Given the description of an element on the screen output the (x, y) to click on. 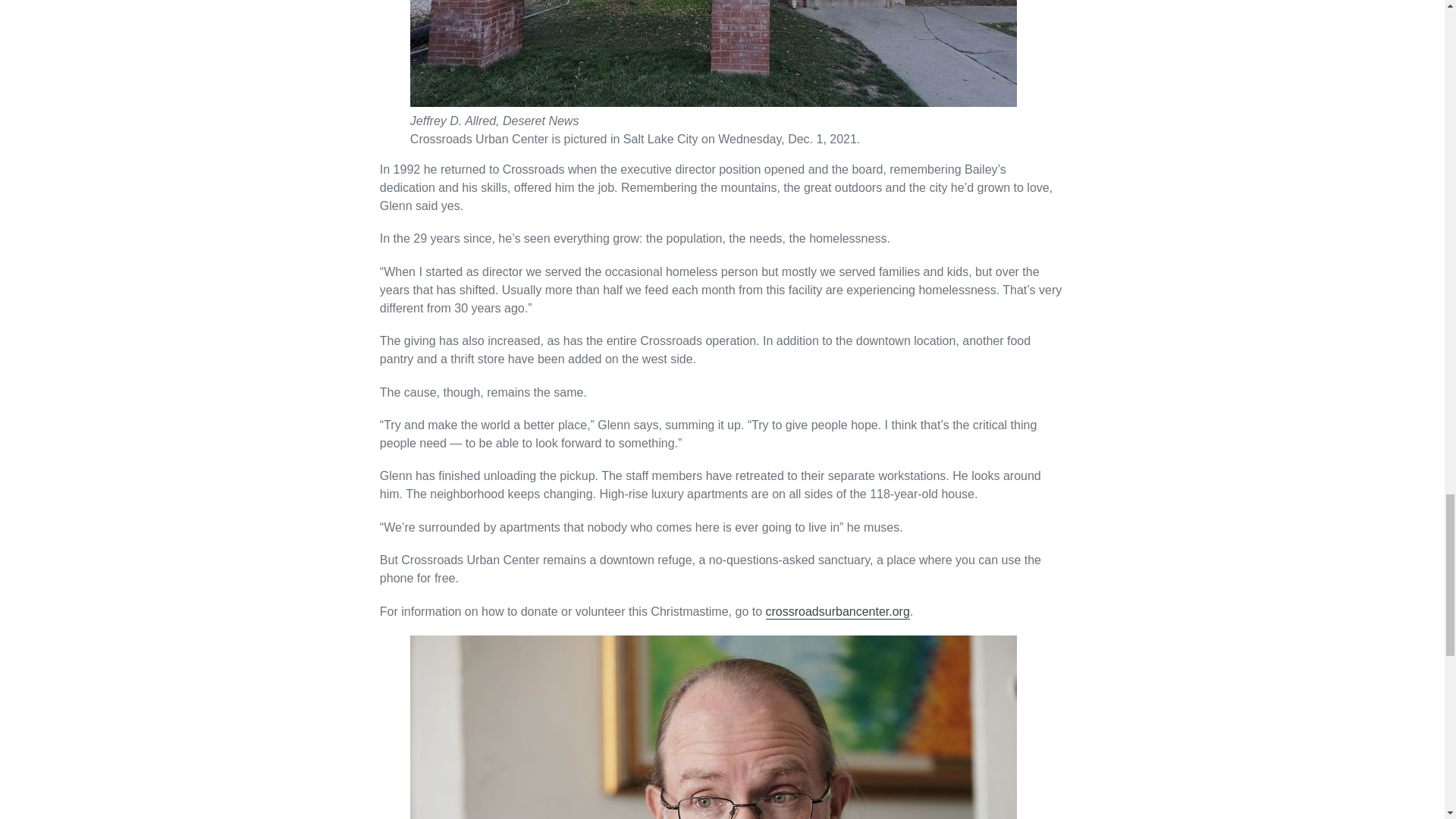
crossroadsurbancenter.org (837, 612)
